Given the description of an element on the screen output the (x, y) to click on. 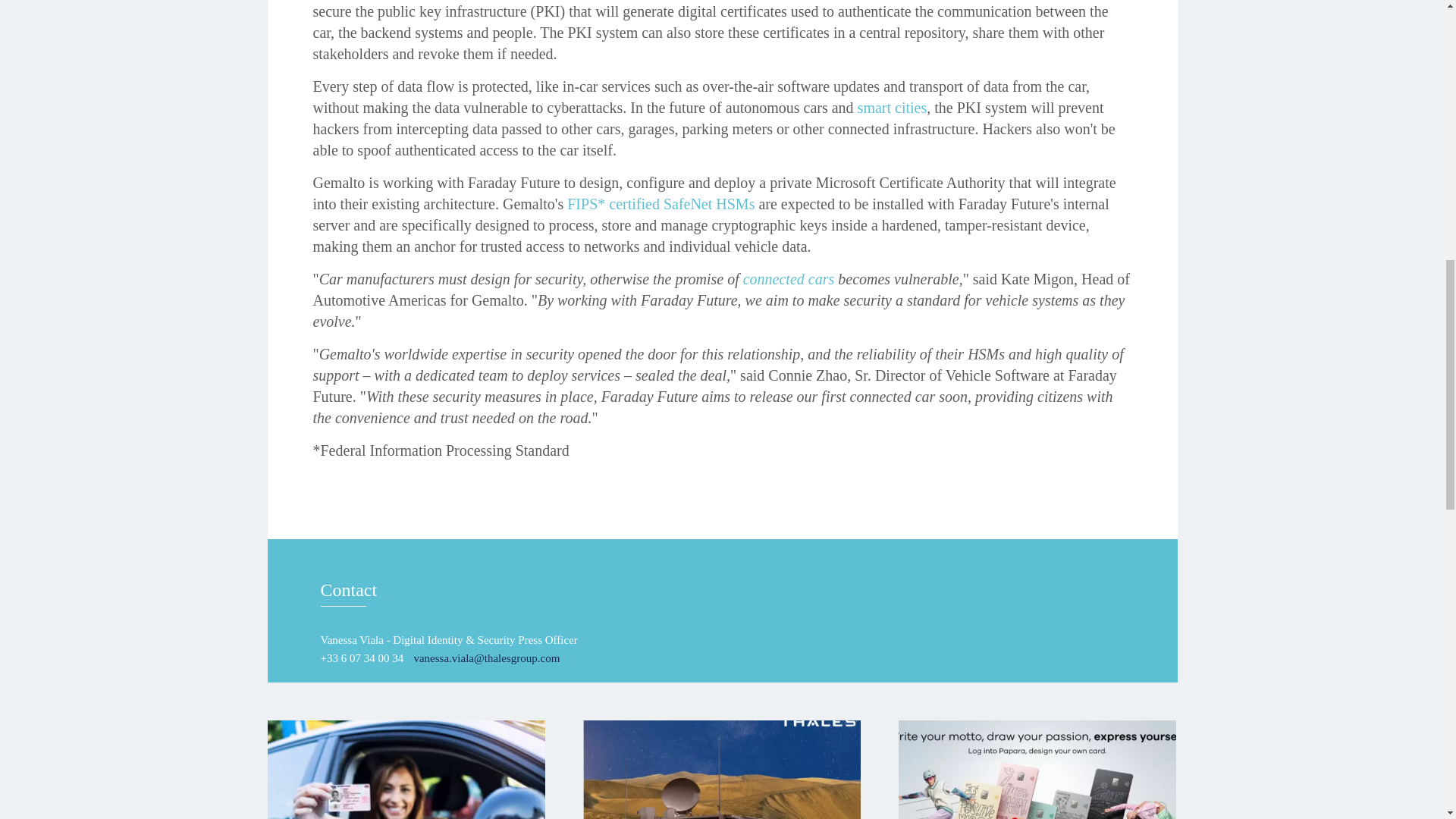
smart cities (892, 107)
connected cars (788, 279)
